Given the description of an element on the screen output the (x, y) to click on. 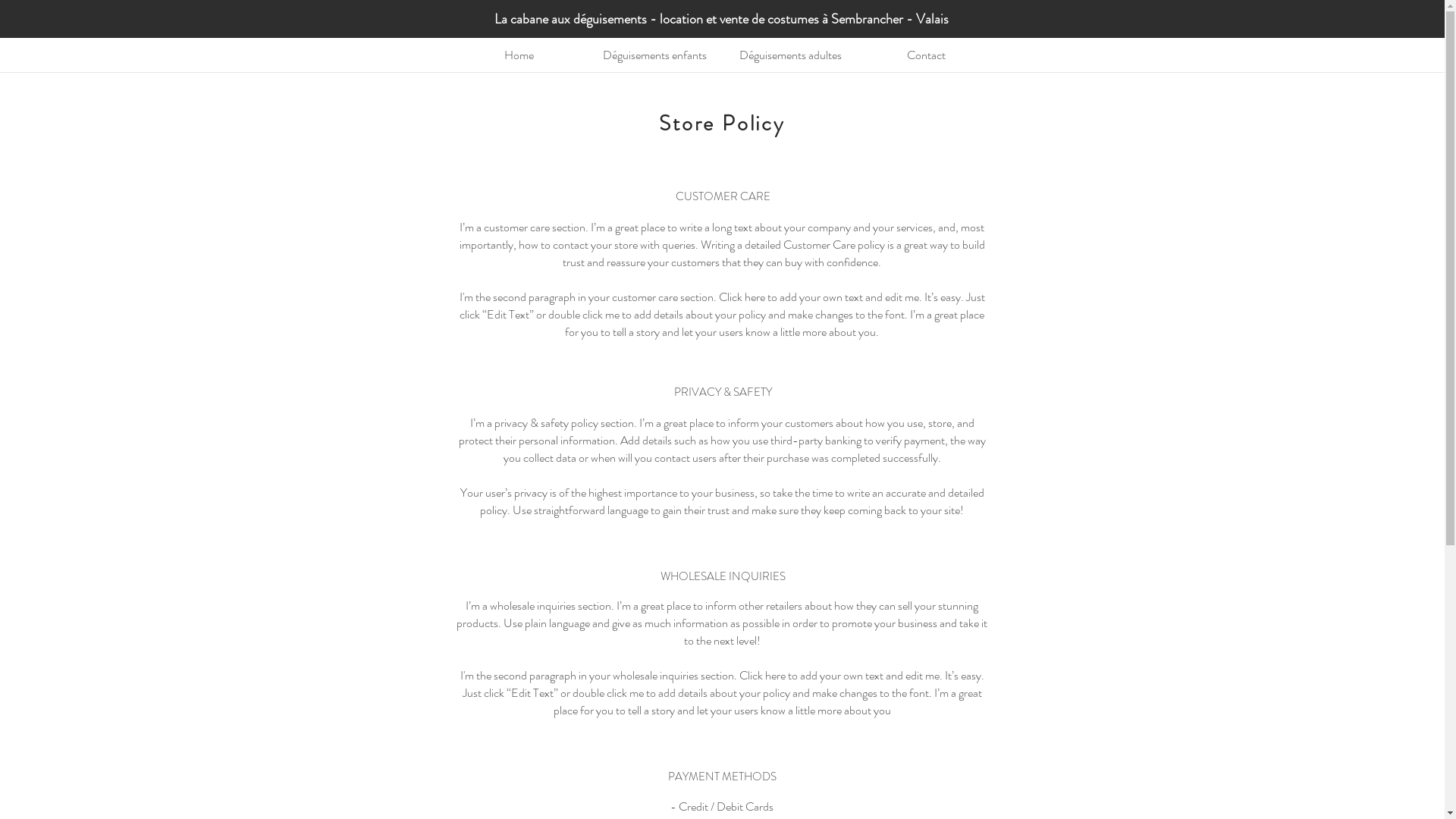
Contact Element type: text (926, 54)
Home Element type: text (518, 54)
